Given the description of an element on the screen output the (x, y) to click on. 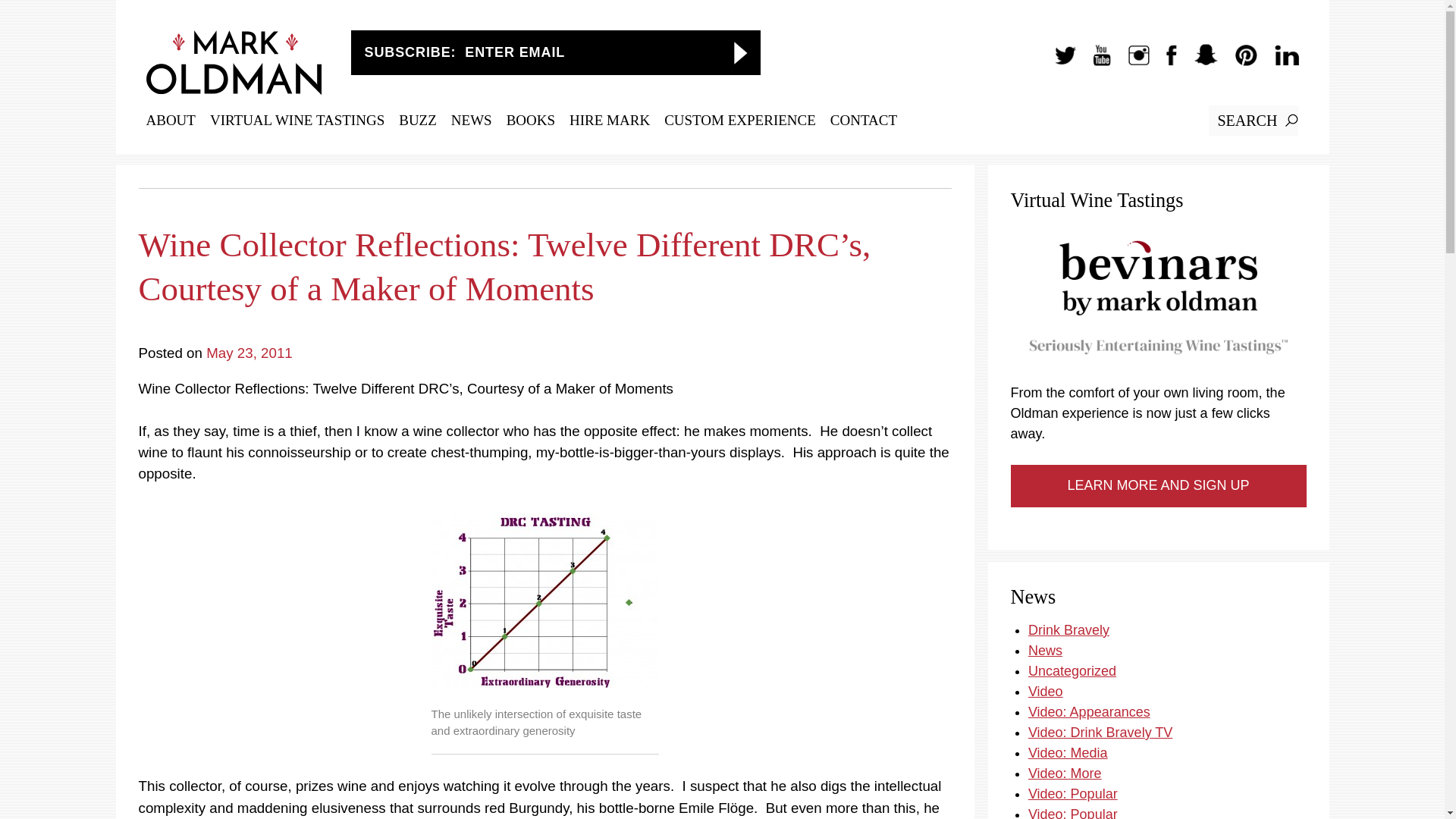
BOOKS (530, 120)
CUSTOM EXPERIENCE (739, 120)
CONTACT (862, 120)
Pinterest (1238, 62)
May 23, 2011 (249, 352)
SnapChat (1198, 62)
LinkedIn (1278, 62)
Twitter (1057, 62)
BUZZ (417, 120)
VIRTUAL WINE TASTINGS (296, 120)
